Given the description of an element on the screen output the (x, y) to click on. 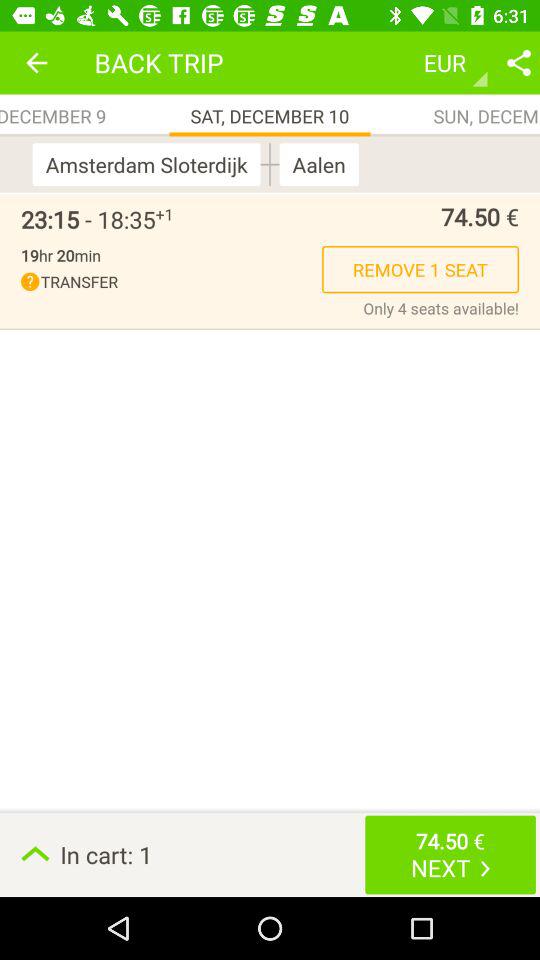
share (519, 62)
